Given the description of an element on the screen output the (x, y) to click on. 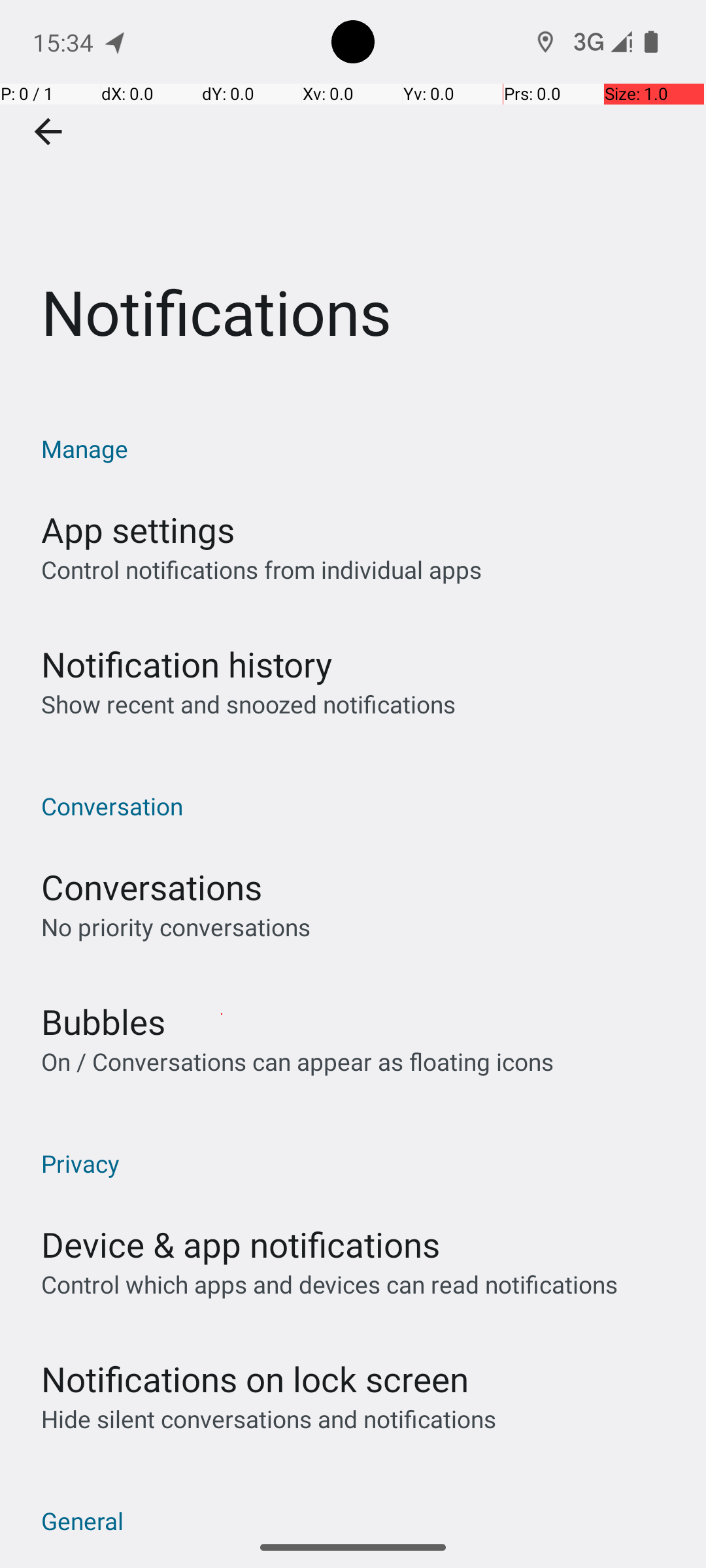
Notifications Element type: android.widget.FrameLayout (353, 195)
Manage Element type: android.widget.TextView (359, 448)
App settings Element type: android.widget.TextView (137, 529)
Control notifications from individual apps Element type: android.widget.TextView (261, 569)
Notification history Element type: android.widget.TextView (186, 663)
Show recent and snoozed notifications Element type: android.widget.TextView (248, 703)
Conversation Element type: android.widget.TextView (359, 805)
Conversations Element type: android.widget.TextView (151, 886)
No priority conversations Element type: android.widget.TextView (175, 926)
Bubbles Element type: android.widget.TextView (103, 1021)
On / Conversations can appear as floating icons Element type: android.widget.TextView (297, 1061)
Privacy Element type: android.widget.TextView (359, 1162)
Device & app notifications Element type: android.widget.TextView (240, 1244)
Control which apps and devices can read notifications Element type: android.widget.TextView (329, 1283)
Notifications on lock screen Element type: android.widget.TextView (254, 1378)
Hide silent conversations and notifications Element type: android.widget.TextView (268, 1418)
General Element type: android.widget.TextView (359, 1514)
